Given the description of an element on the screen output the (x, y) to click on. 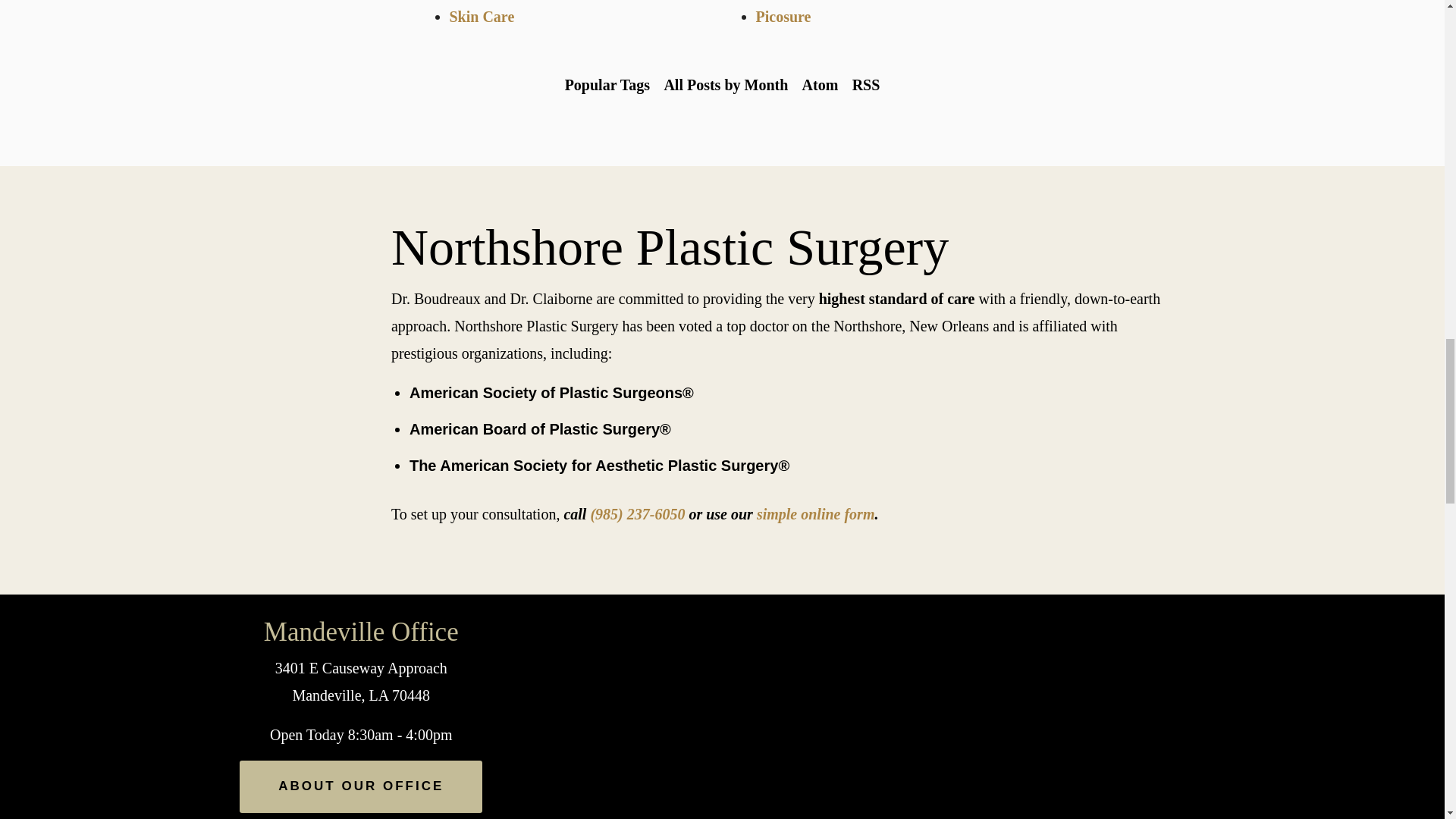
Skin Care (480, 16)
Locations (1083, 607)
Atom (819, 84)
ABOUT OUR OFFICE (360, 786)
All Posts by Month (725, 84)
Mandeville Office (360, 632)
Picosure (782, 16)
simple online form (816, 514)
Popular Tags (607, 84)
RSS (865, 84)
